Given the description of an element on the screen output the (x, y) to click on. 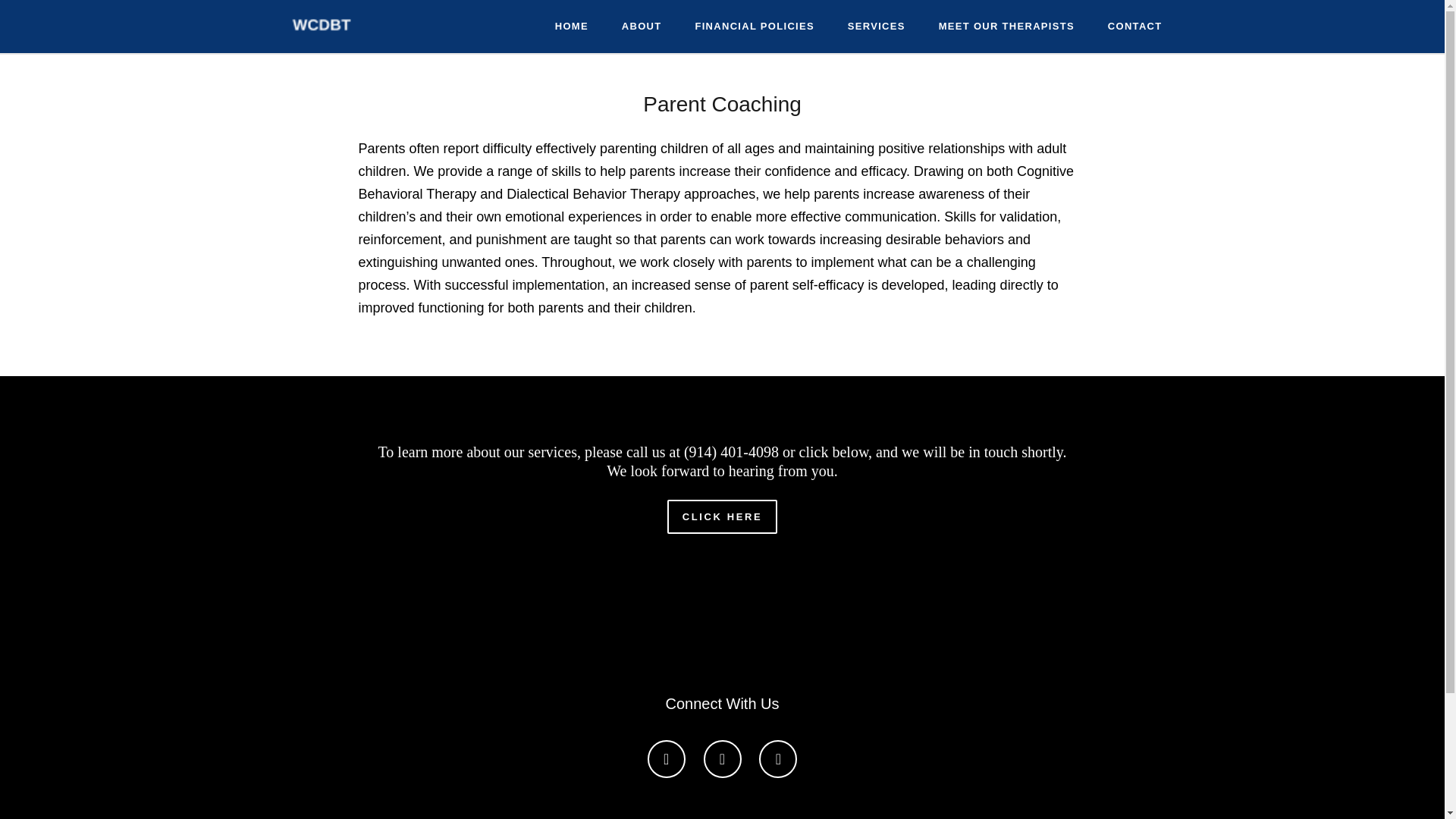
FINANCIAL POLICIES (753, 26)
SERVICES (876, 26)
CLICK HERE (721, 515)
MEET OUR THERAPISTS (1006, 26)
CONTACT (1134, 26)
